Given the description of an element on the screen output the (x, y) to click on. 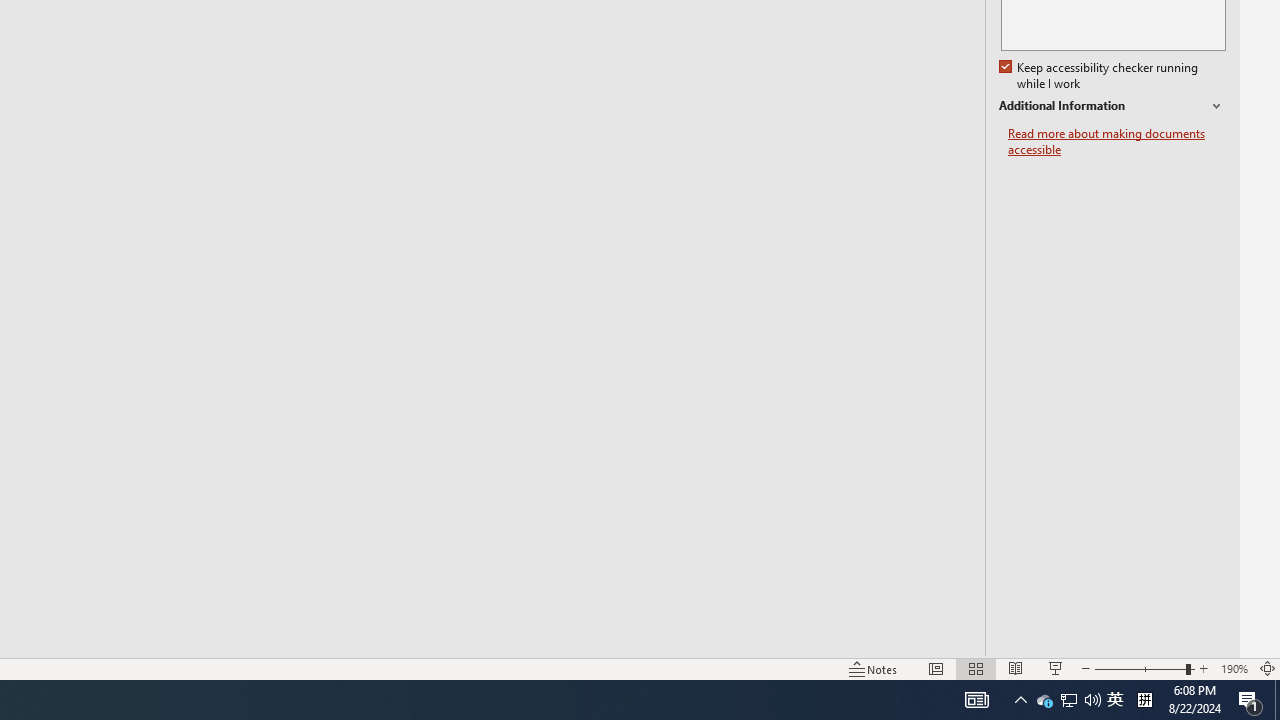
Zoom 190% (1234, 668)
Read more about making documents accessible (1117, 142)
Keep accessibility checker running while I work (1099, 76)
Additional Information (1112, 106)
